Given the description of an element on the screen output the (x, y) to click on. 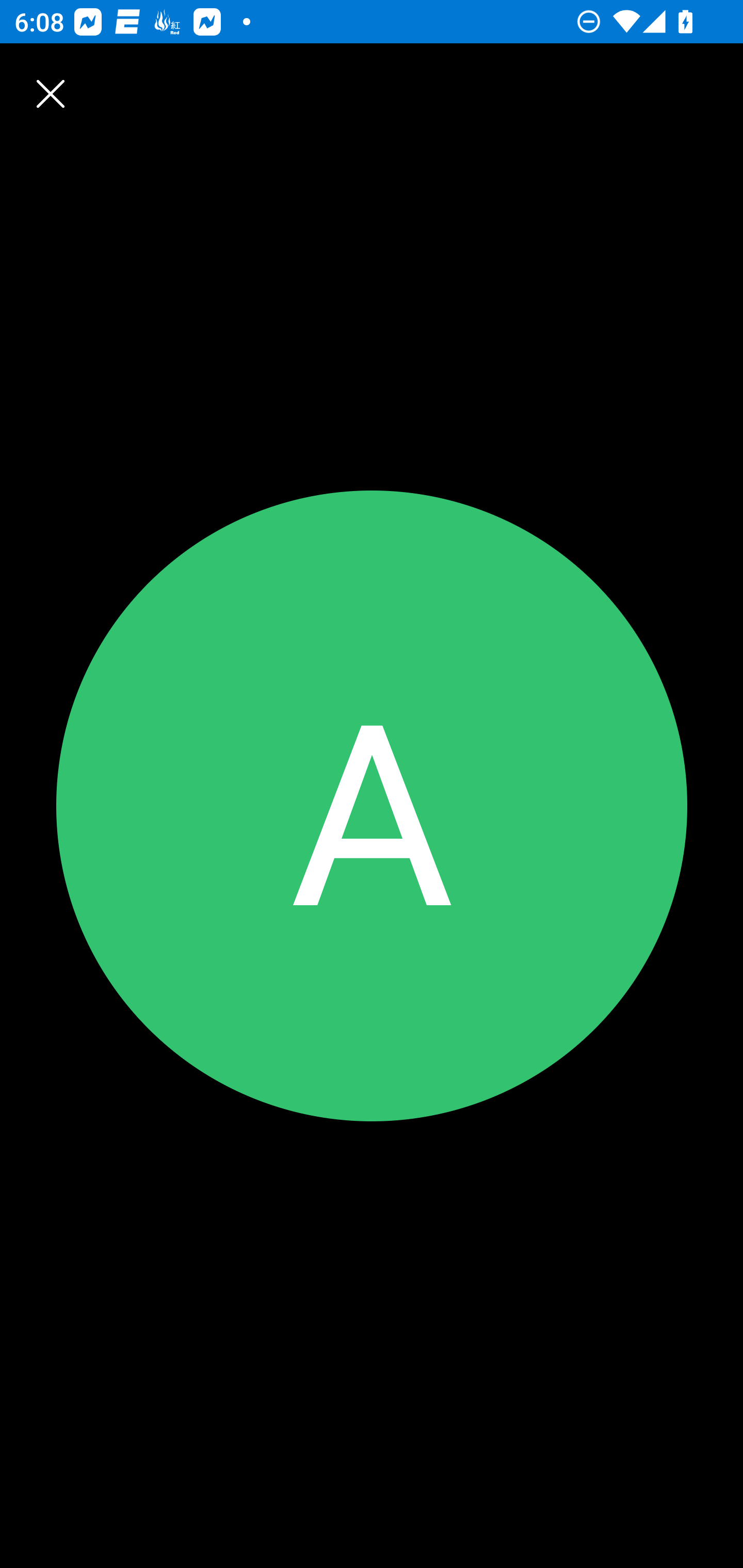
Close (36, 79)
